Given the description of an element on the screen output the (x, y) to click on. 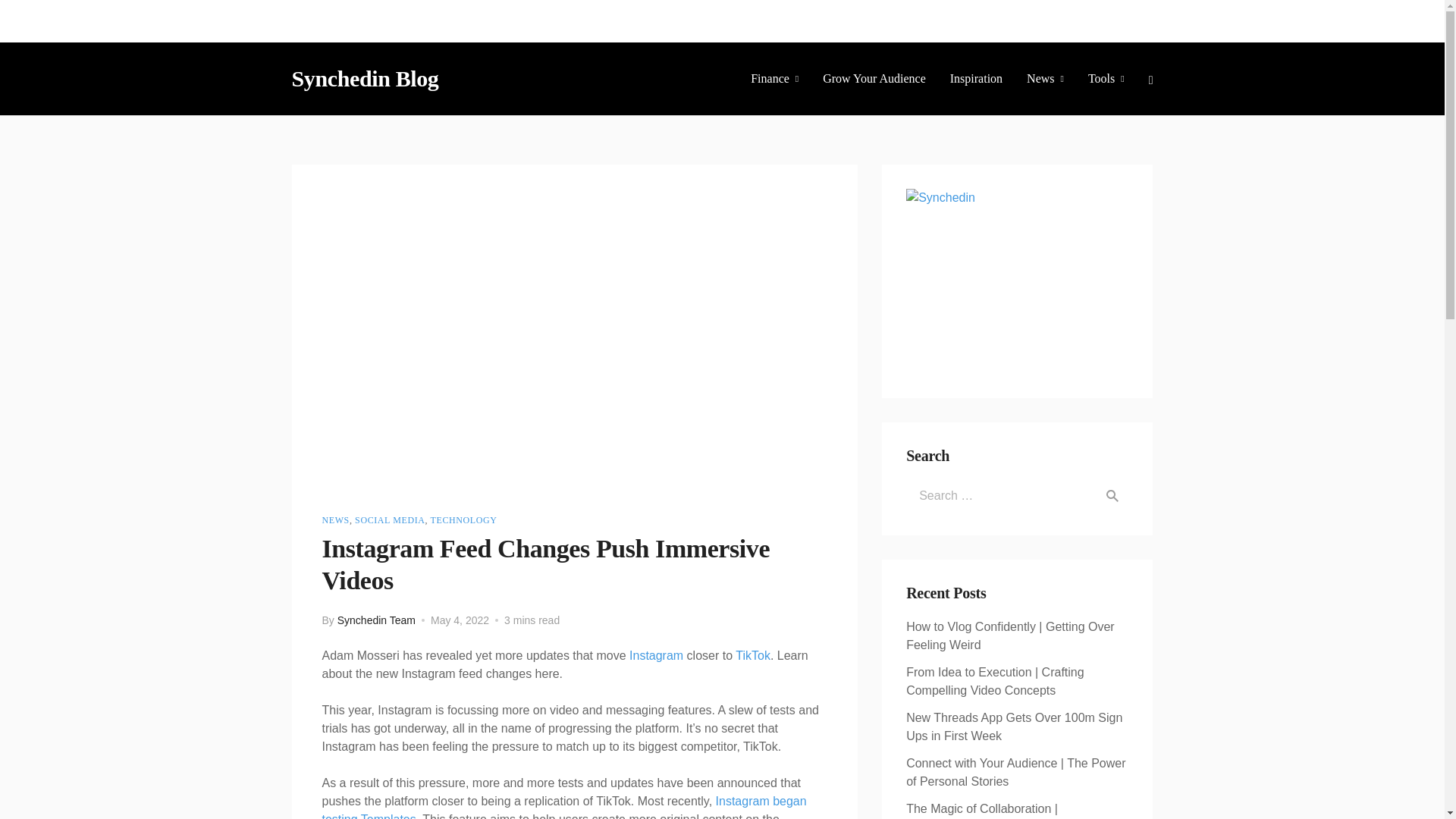
Synchedin Blog (364, 78)
ARTISTS (523, 20)
TikTok (752, 655)
Instagram began testing Templates (563, 806)
SOCIAL MEDIA (390, 520)
Finance (774, 78)
DISCOVER MUSIC (438, 20)
Synchedin (1016, 281)
TECHNOLOGY (463, 520)
Instagram (655, 655)
